Given the description of an element on the screen output the (x, y) to click on. 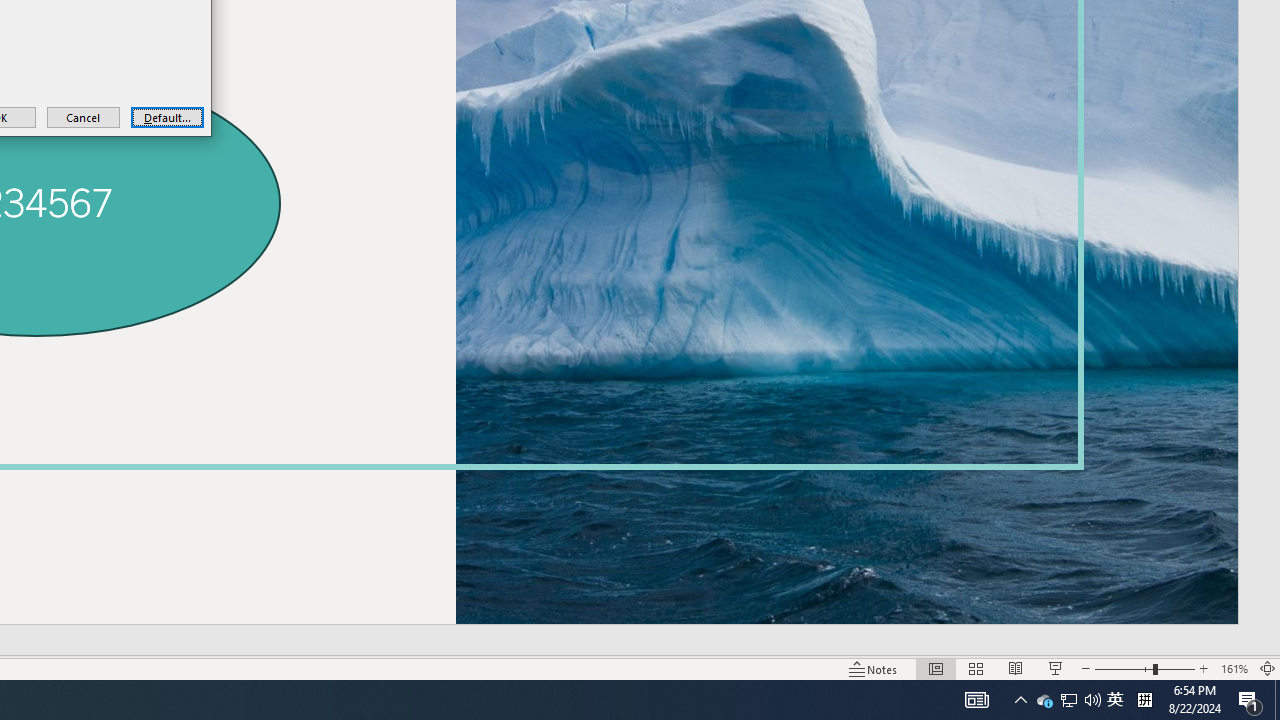
User Promoted Notification Area (1068, 699)
Notification Chevron (1115, 699)
Action Center, 1 new notification (1020, 699)
